Given the description of an element on the screen output the (x, y) to click on. 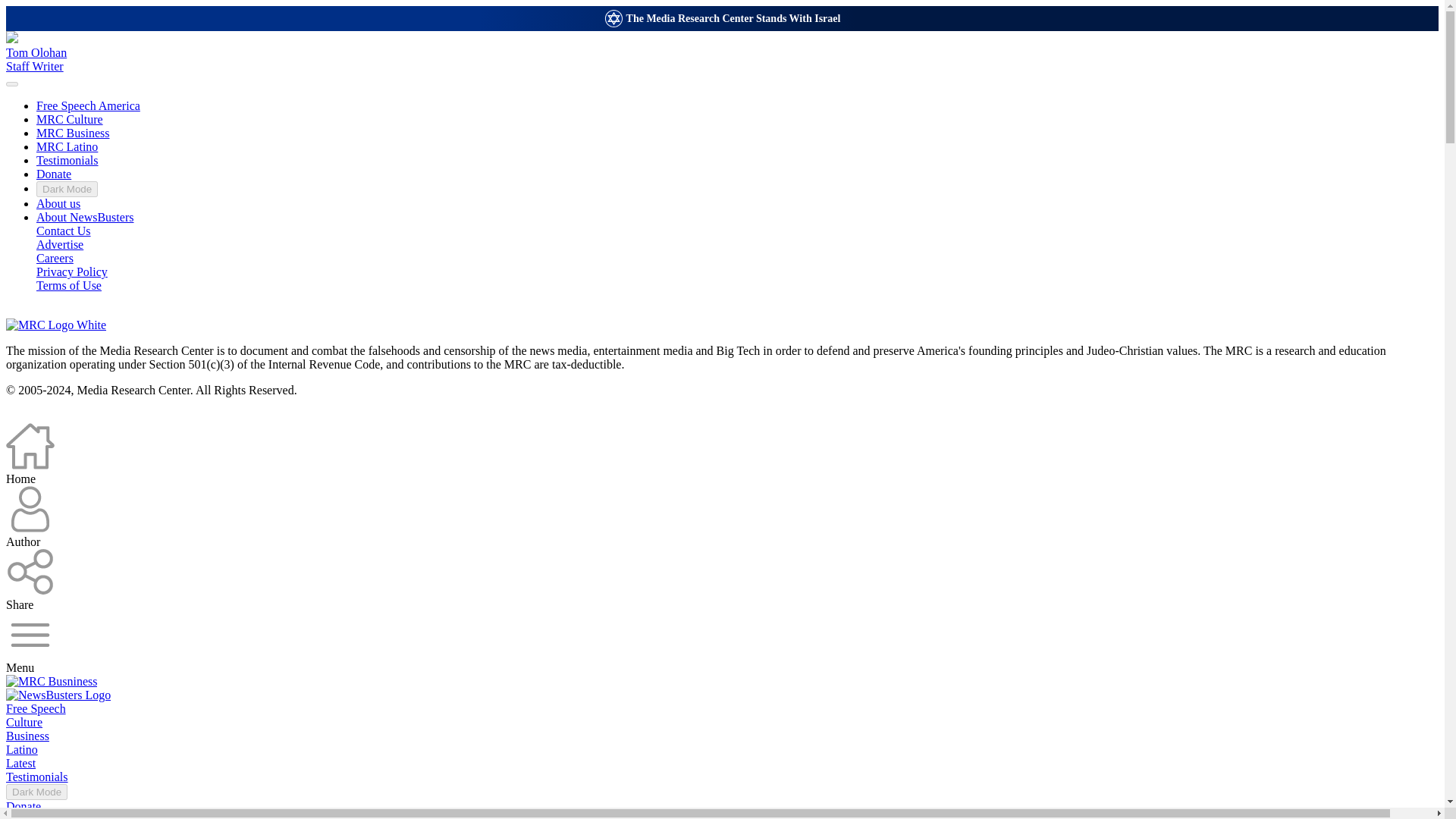
Dark Mode (66, 188)
Donate (22, 806)
Testimonials (36, 776)
